Given the description of an element on the screen output the (x, y) to click on. 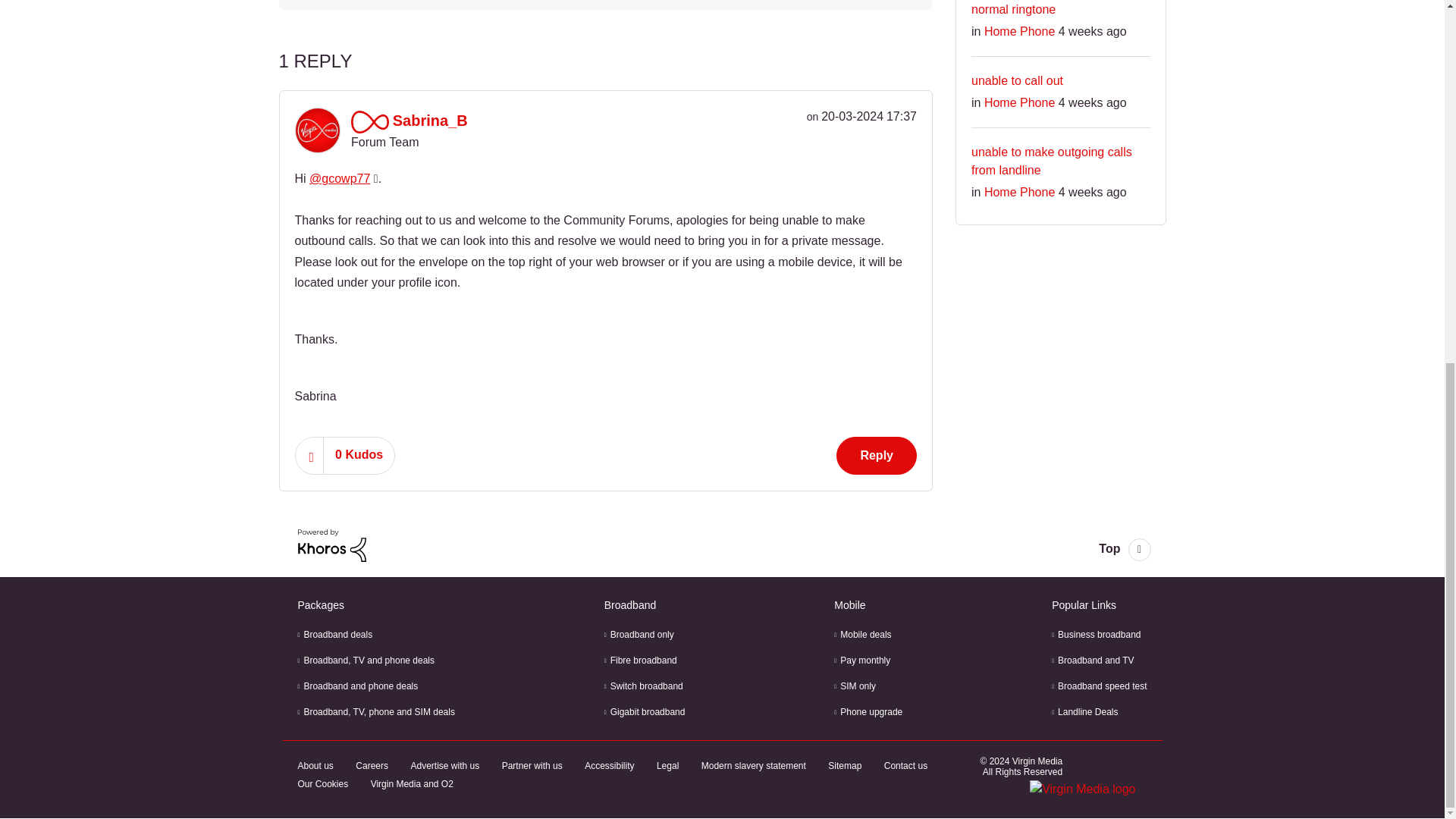
Forum Team (369, 121)
My builders have managed to cut my landline telephone cable (879, 2)
Possible cross line fault (341, 2)
Home Phone (618, 2)
The total number of kudos this post has received. (358, 454)
